Given the description of an element on the screen output the (x, y) to click on. 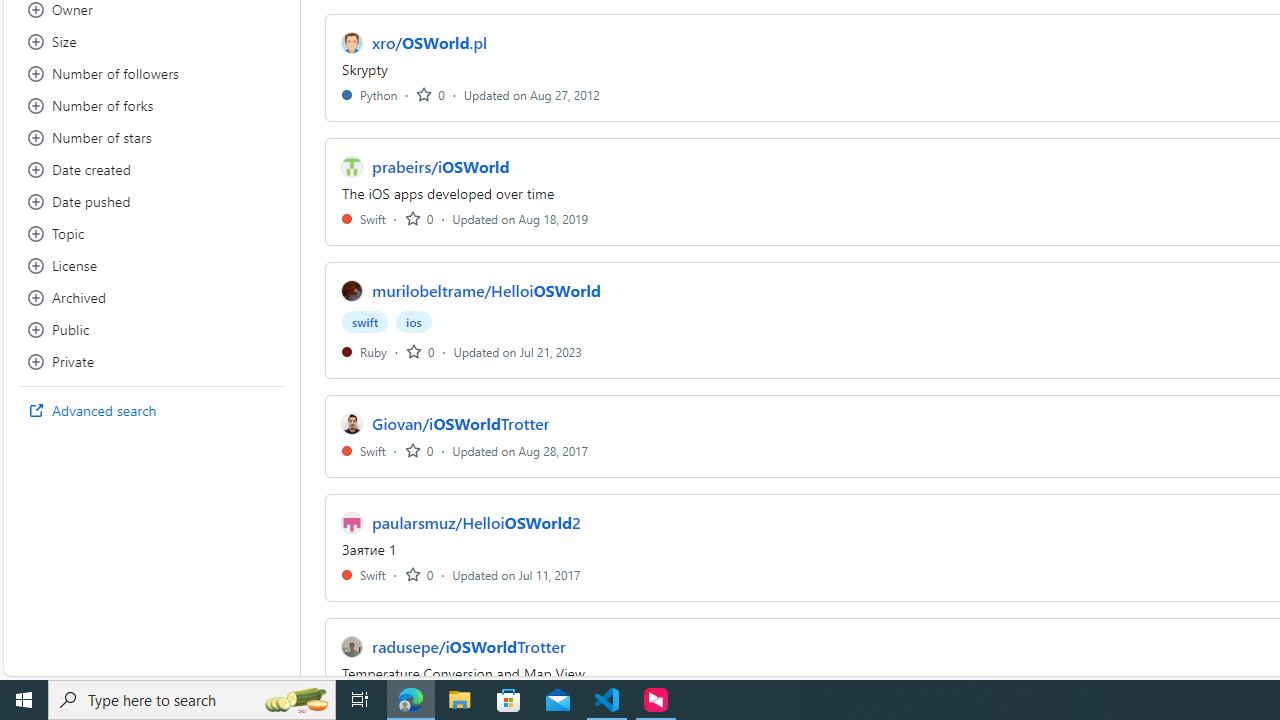
prabeirs/iOSWorld (440, 166)
swift (365, 321)
Updated on Aug 28, 2017 (519, 450)
ios (413, 321)
Giovan/iOSWorldTrotter (461, 423)
xro/OSWorld.pl (429, 42)
Updated on Jul 11, 2017 (516, 574)
paularsmuz/HelloiOSWorld2 (476, 522)
